Given the description of an element on the screen output the (x, y) to click on. 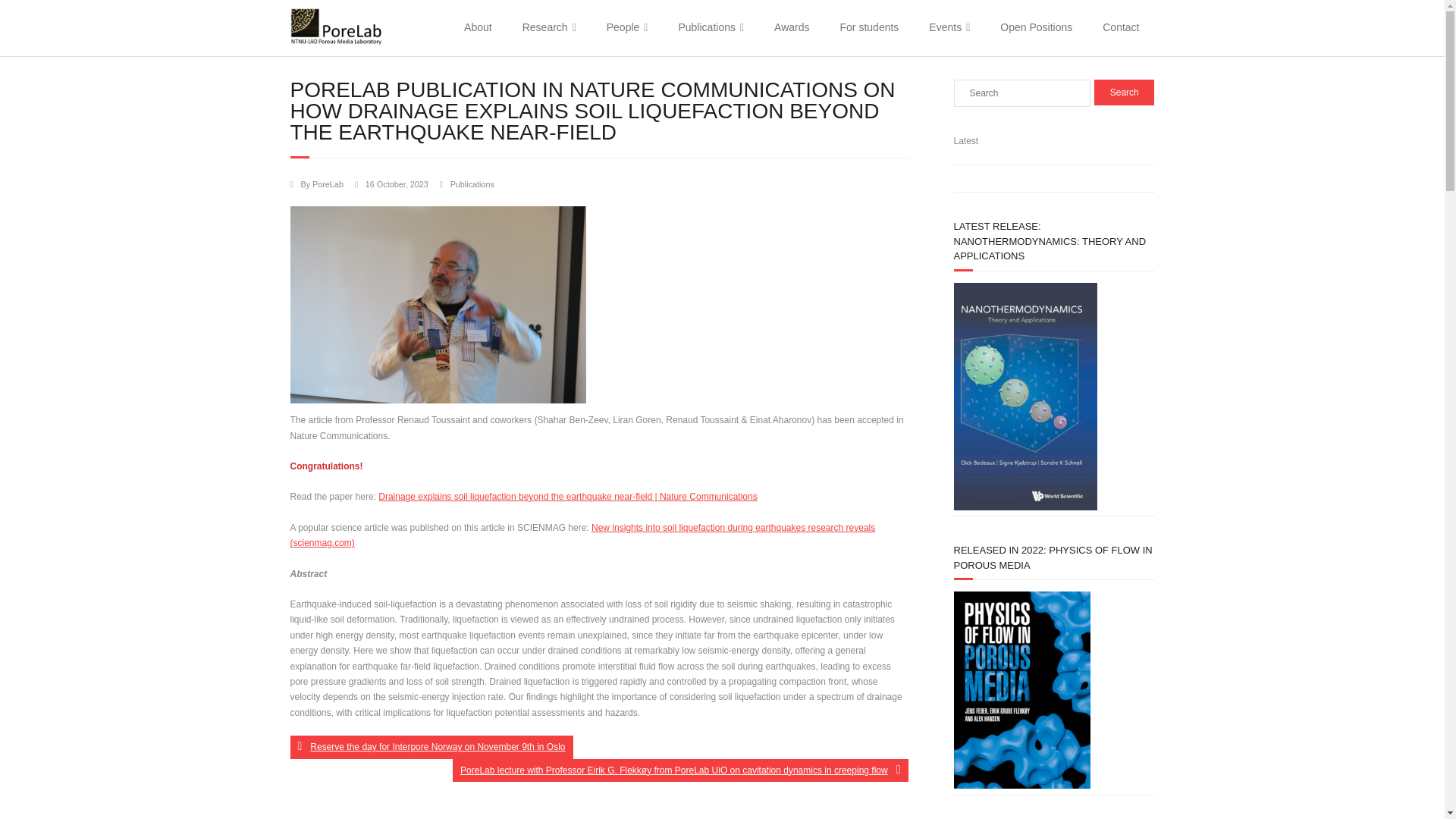
Search (1124, 92)
Open Positions (1036, 28)
View all posts by PoreLab (328, 184)
Awards (791, 28)
Publications (710, 28)
Research (548, 28)
Contact (1120, 28)
For students (869, 28)
About (477, 28)
Events (949, 28)
